Given the description of an element on the screen output the (x, y) to click on. 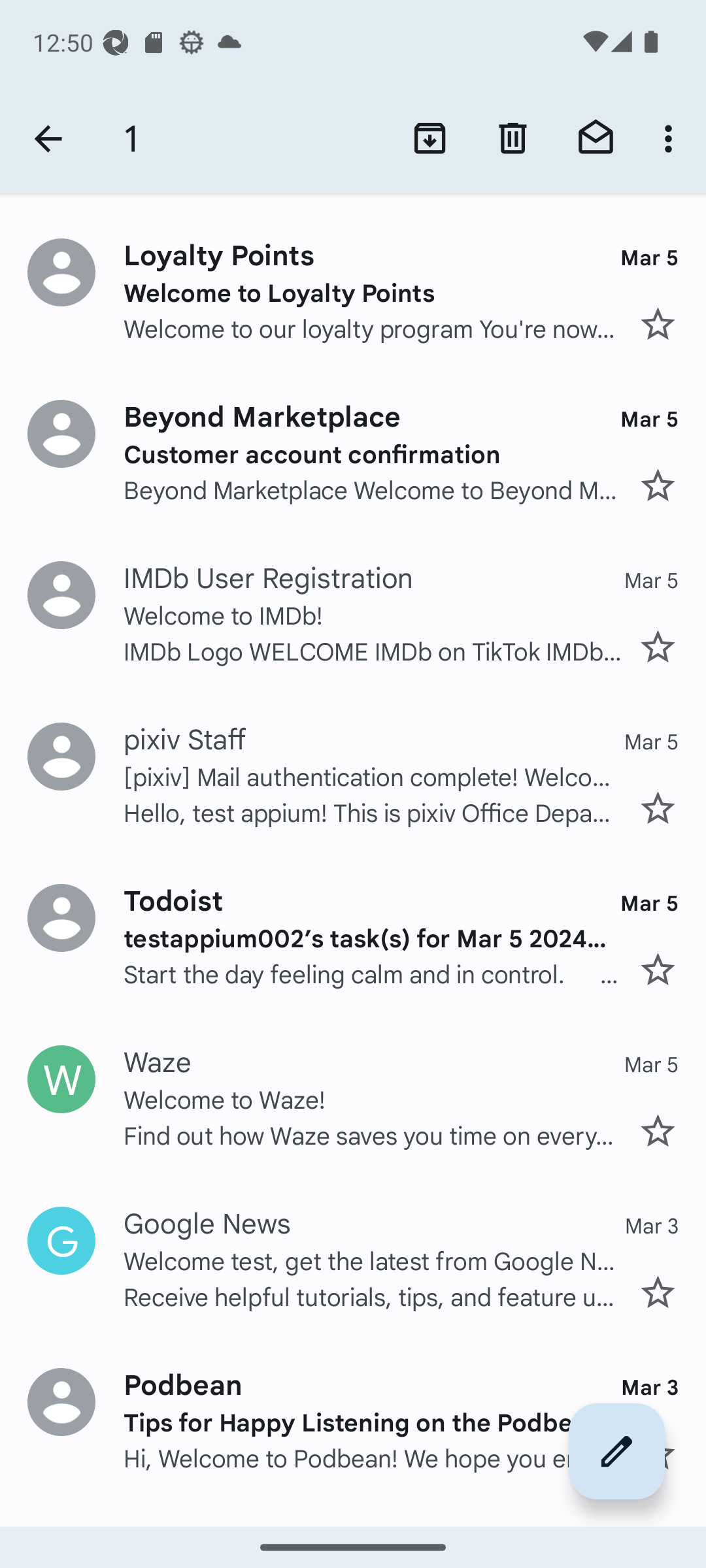
Done (48, 138)
Archive (429, 138)
Delete (512, 138)
Mark read (595, 138)
More options (671, 138)
Compose (617, 1451)
